Given the description of an element on the screen output the (x, y) to click on. 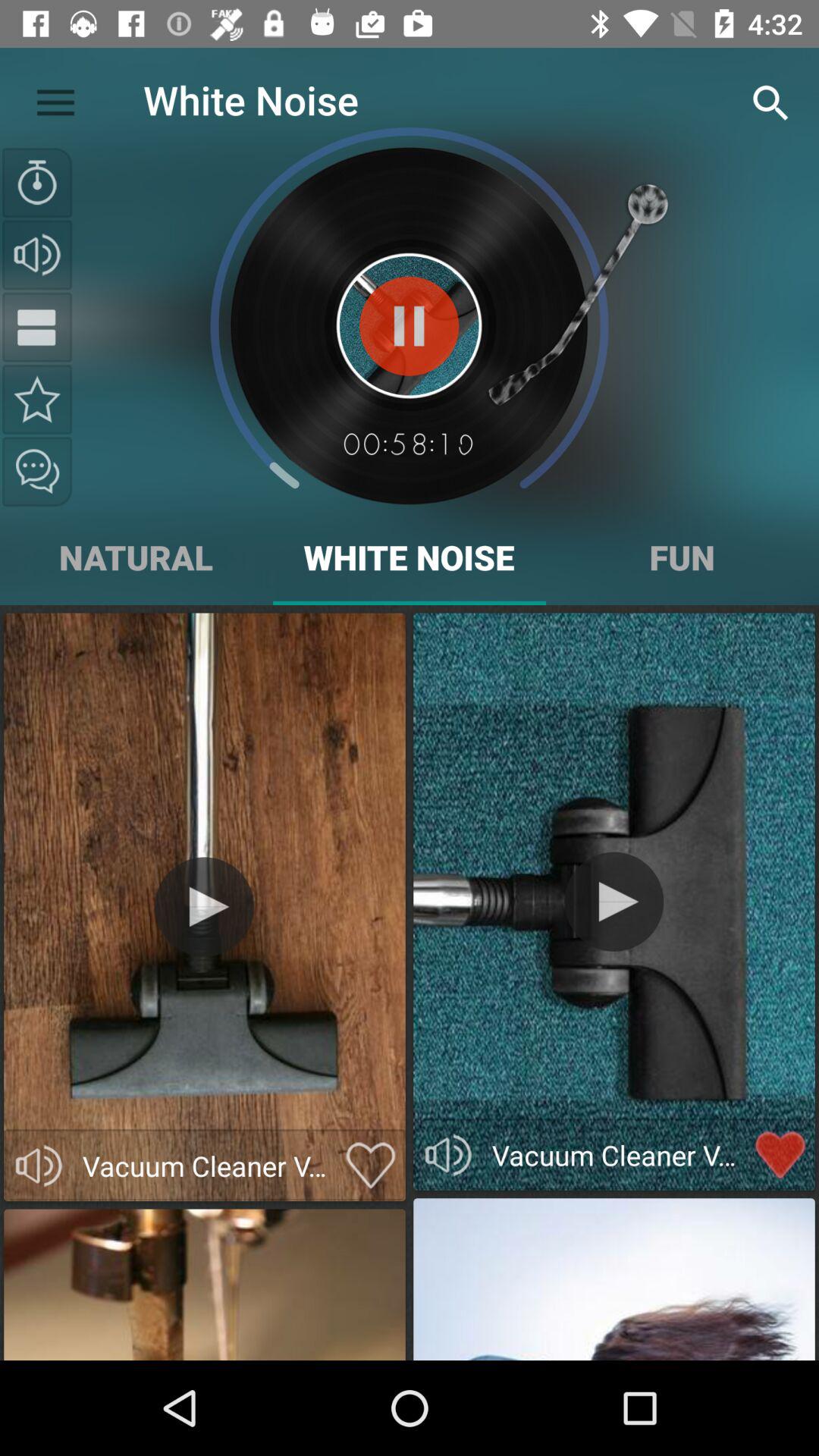
see a menu of sounds (37, 327)
